Given the description of an element on the screen output the (x, y) to click on. 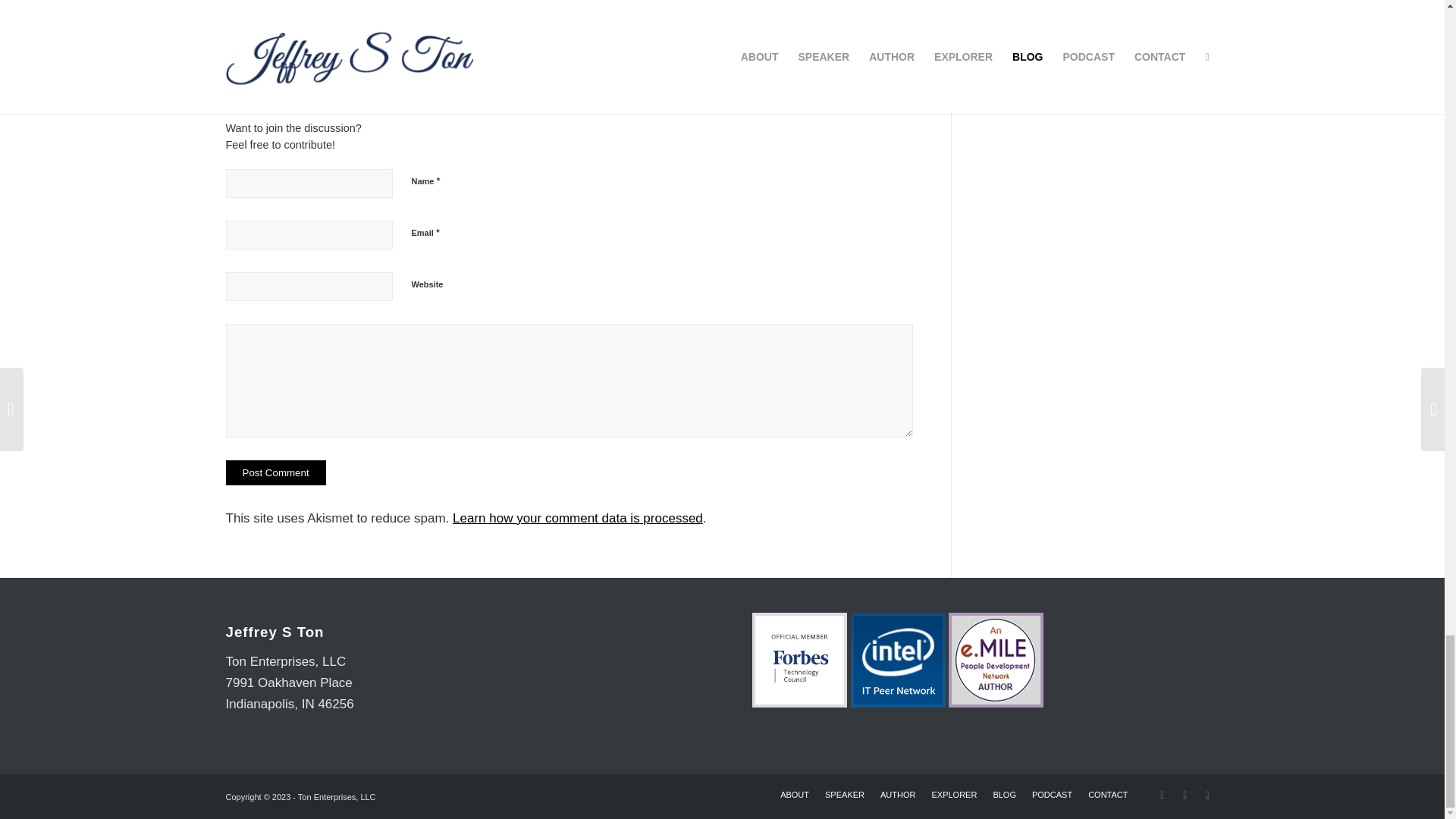
Post Comment (275, 472)
